Given the description of an element on the screen output the (x, y) to click on. 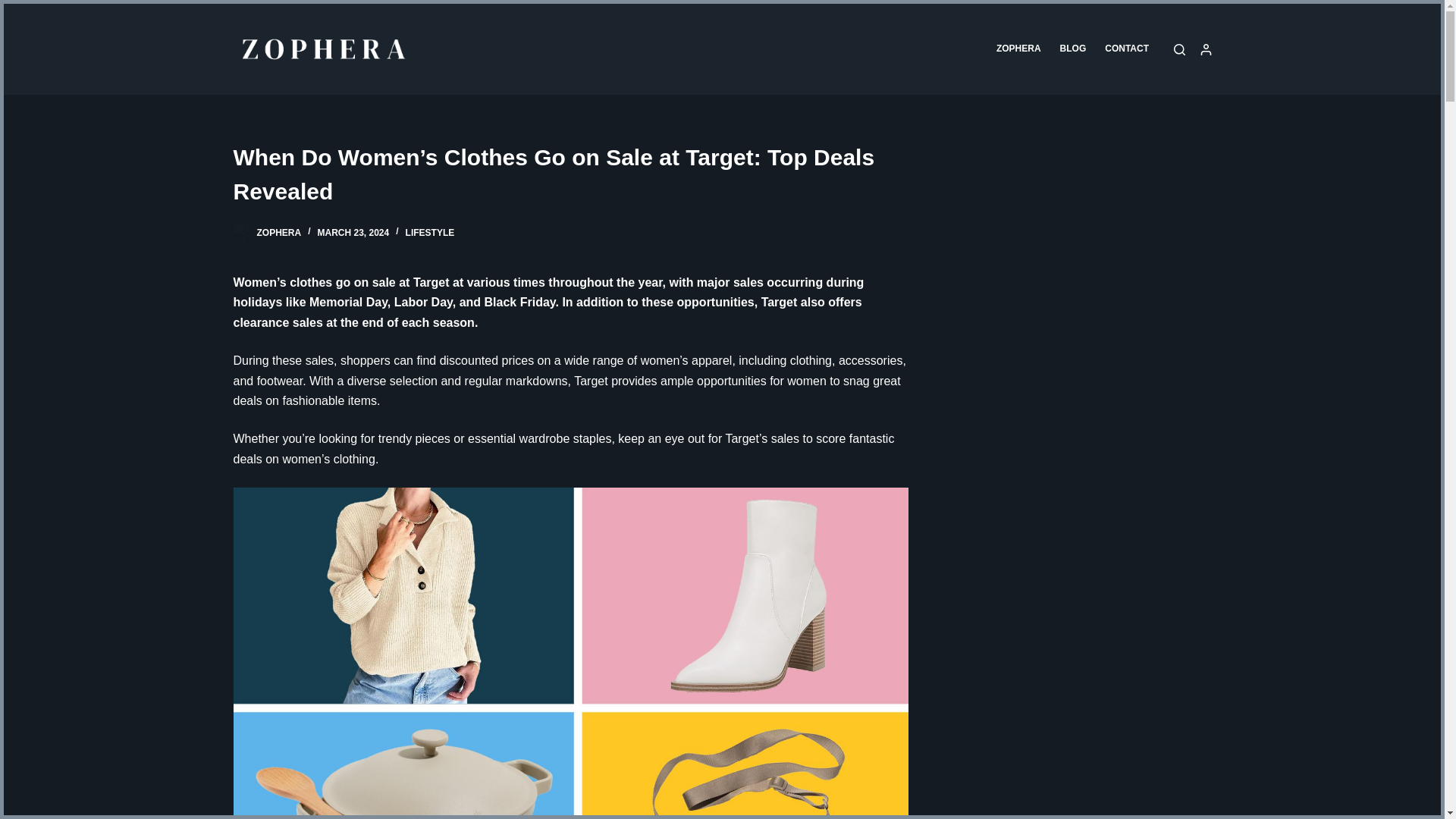
Posts by Zophera (278, 232)
Skip to content (15, 7)
LIFESTYLE (430, 232)
ZOPHERA (278, 232)
